Given the description of an element on the screen output the (x, y) to click on. 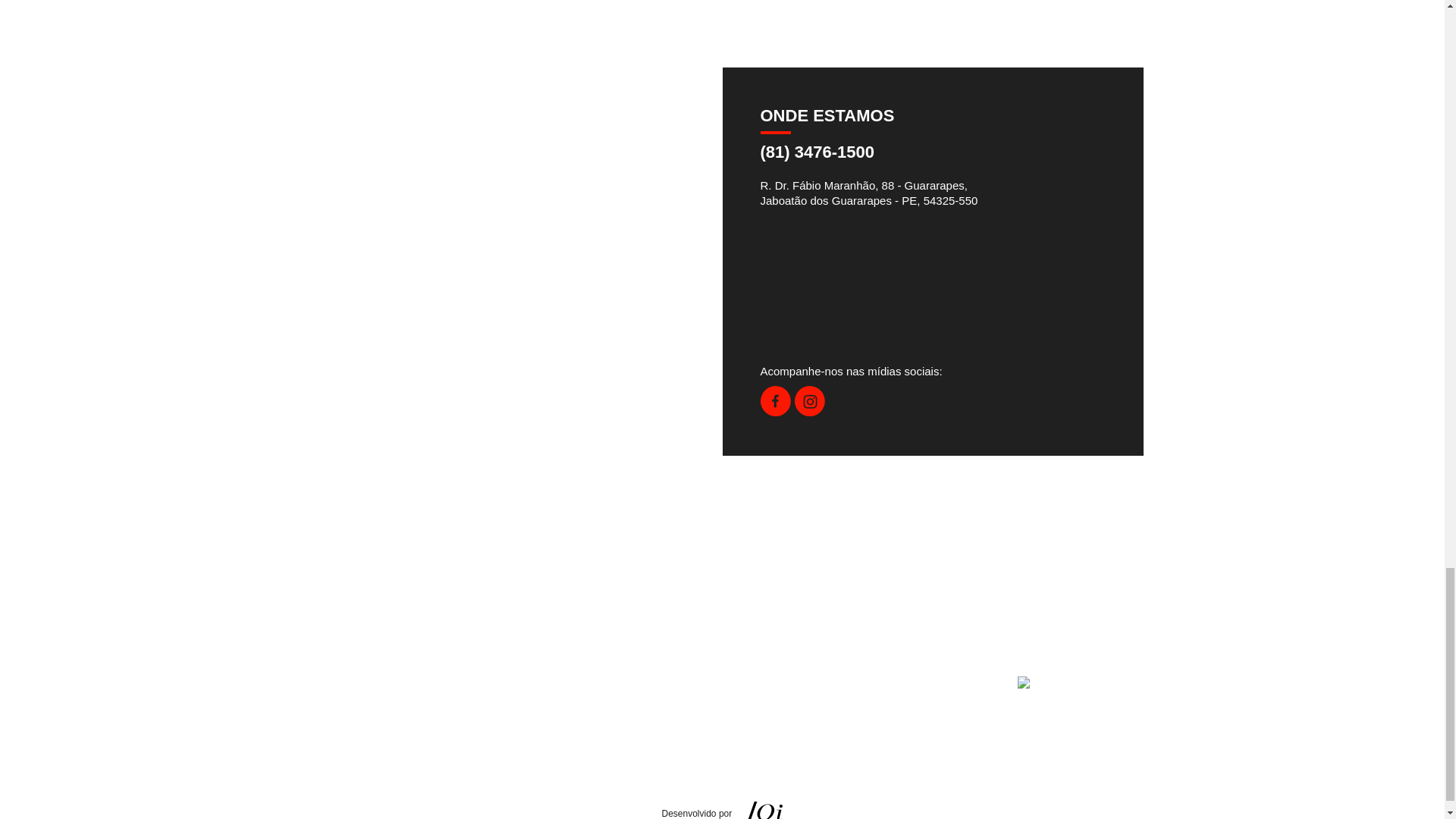
Facebook (775, 411)
Instagram (809, 411)
